Given the description of an element on the screen output the (x, y) to click on. 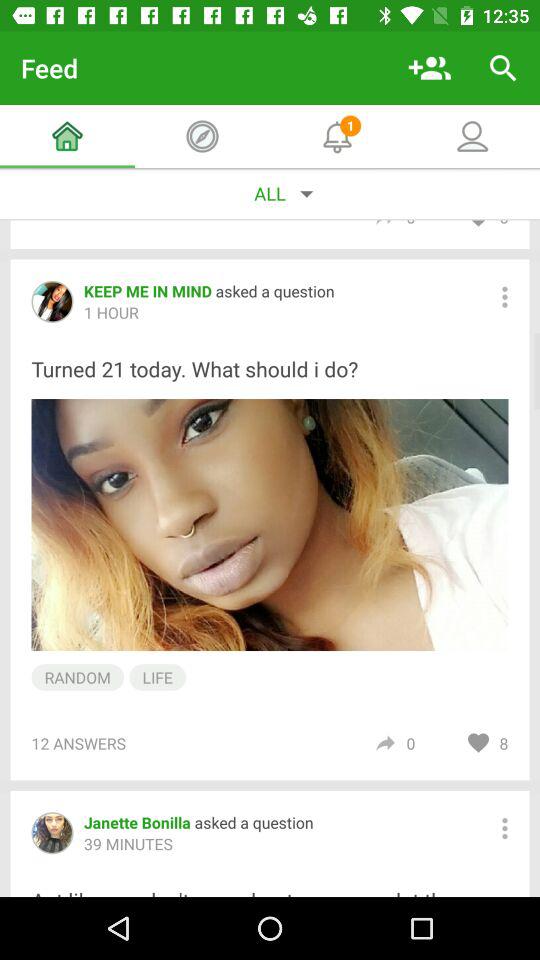
open options (504, 828)
